Given the description of an element on the screen output the (x, y) to click on. 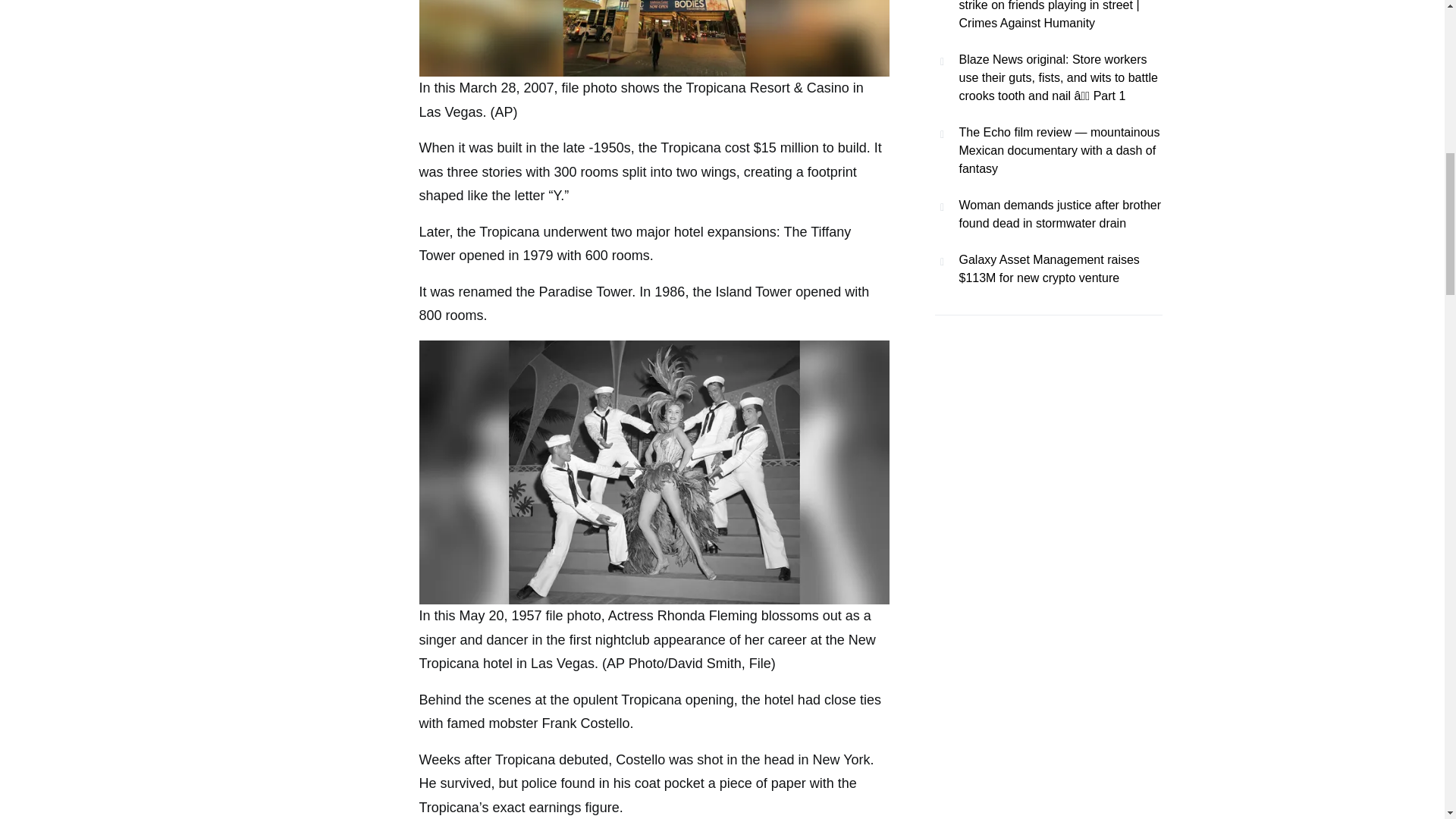
Advertisement (1047, 114)
